Given the description of an element on the screen output the (x, y) to click on. 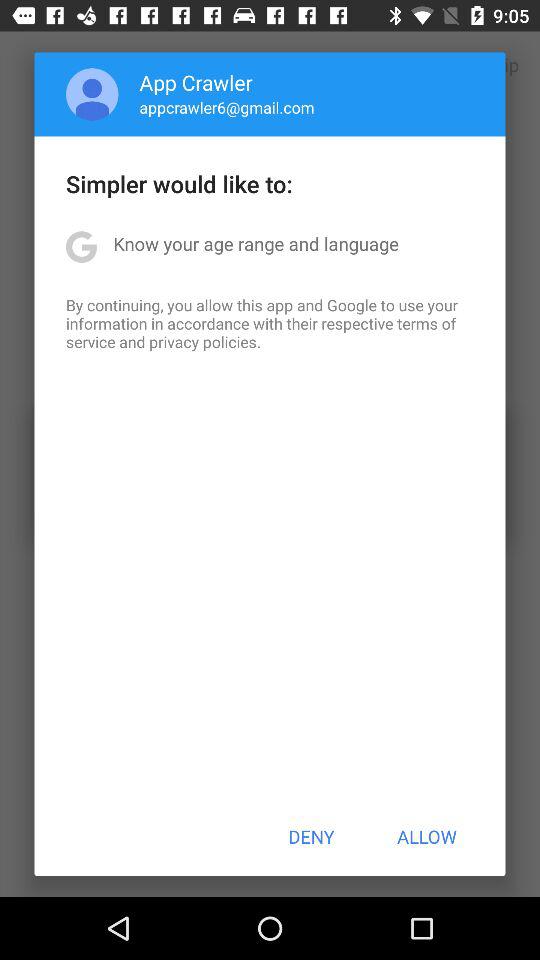
open icon above simpler would like app (92, 94)
